Given the description of an element on the screen output the (x, y) to click on. 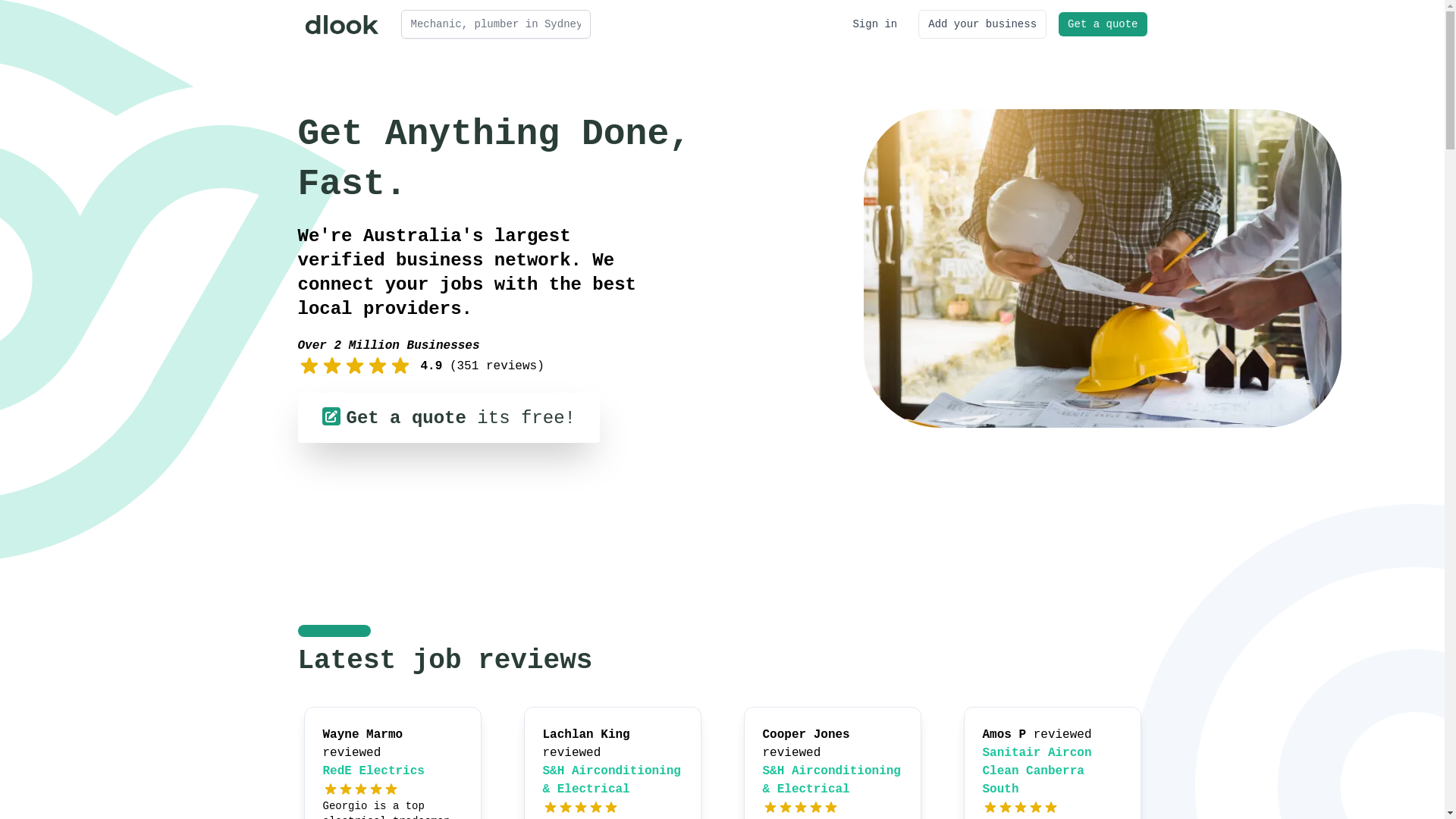
Get a quote Element type: text (1102, 24)
Add your business Element type: text (982, 23)
Get a quote its free! Element type: text (448, 417)
S&H Airconditioning & Electrical Element type: text (611, 780)
S&H Airconditioning & Electrical Element type: text (831, 780)
RedE Electrics Element type: text (373, 771)
Sanitair Aircon Clean Canberra South Element type: text (1037, 771)
Sign in Element type: text (874, 23)
